Given the description of an element on the screen output the (x, y) to click on. 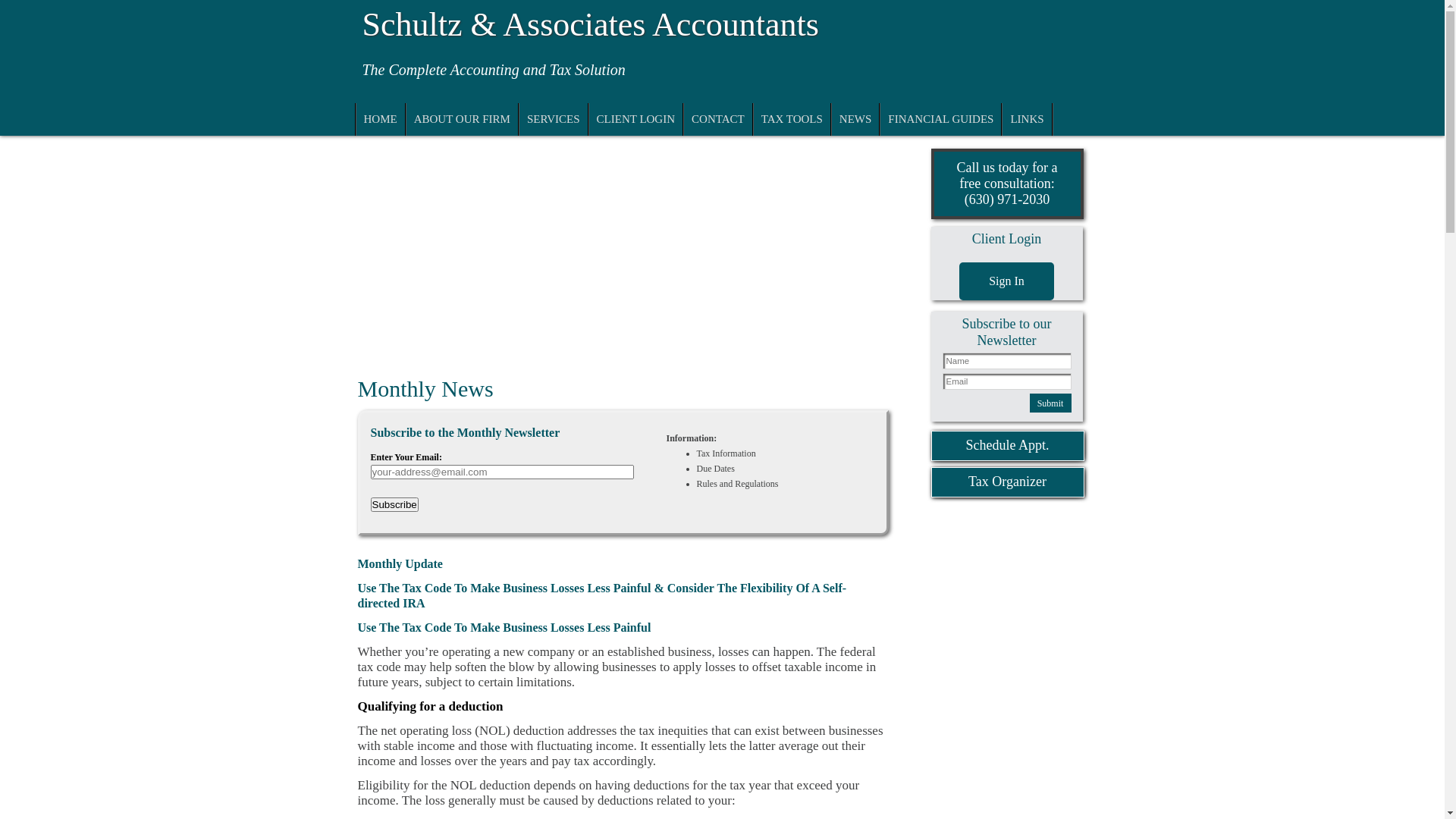
Subscribe Element type: text (393, 504)
Schedule Appt. Element type: text (1007, 445)
SERVICES Element type: text (553, 119)
Submit Element type: text (1050, 402)
Tax Organizer Element type: text (1007, 482)
TAX TOOLS Element type: text (791, 119)
CONTACT Element type: text (718, 119)
NEWS Element type: text (855, 119)
FINANCIAL GUIDES Element type: text (940, 119)
HOME Element type: text (380, 119)
LINKS Element type: text (1026, 119)
Sign In Element type: text (1006, 281)
ABOUT OUR FIRM Element type: text (461, 119)
CLIENT LOGIN Element type: text (635, 119)
